Given the description of an element on the screen output the (x, y) to click on. 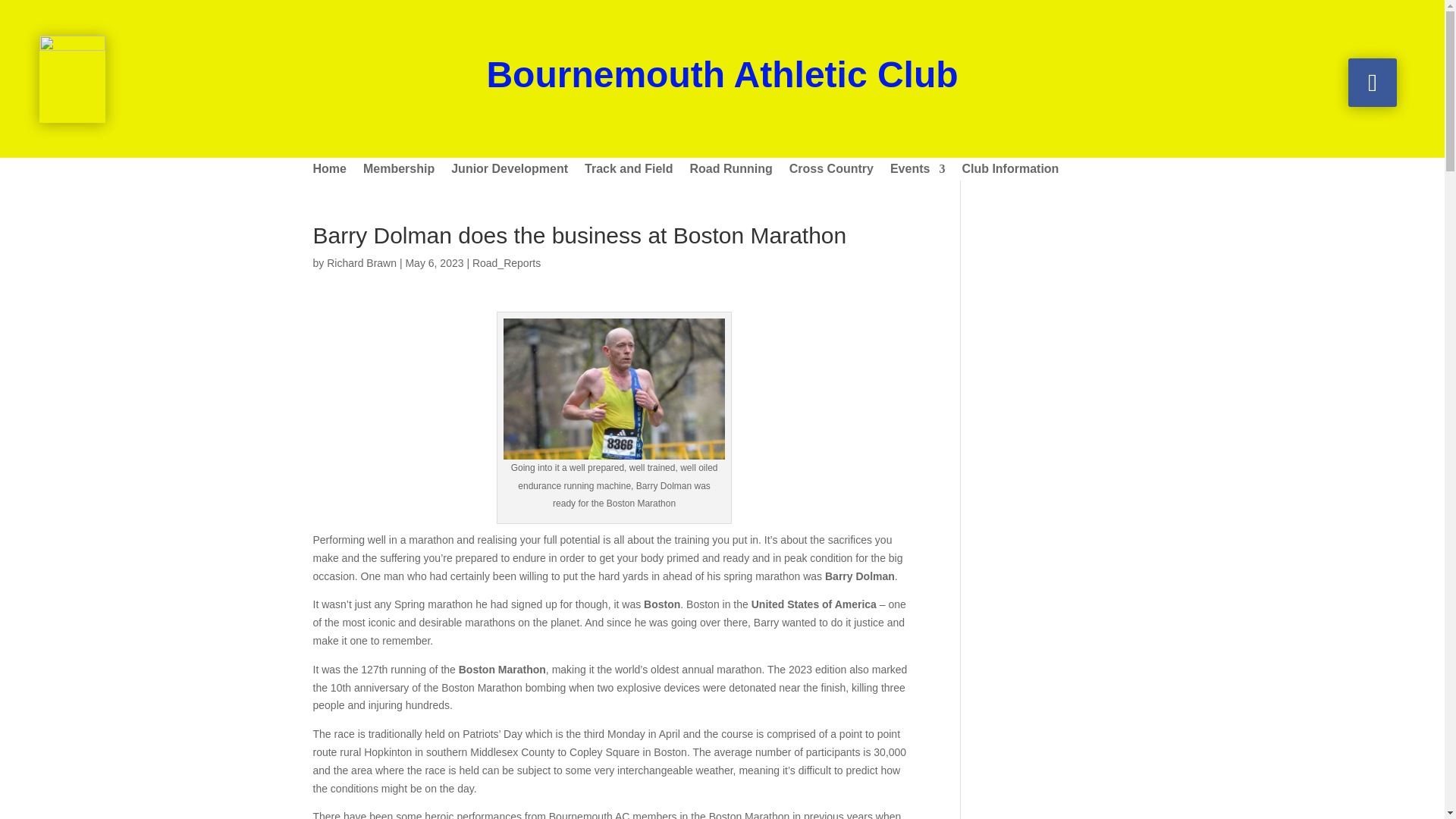
Junior Development (509, 171)
Richard Brawn (361, 263)
Club Information (1009, 171)
Road Running (731, 171)
Events (916, 171)
Membership (397, 171)
Road Running (731, 171)
Membership (397, 171)
Cross Country (831, 171)
Home (329, 171)
